Given the description of an element on the screen output the (x, y) to click on. 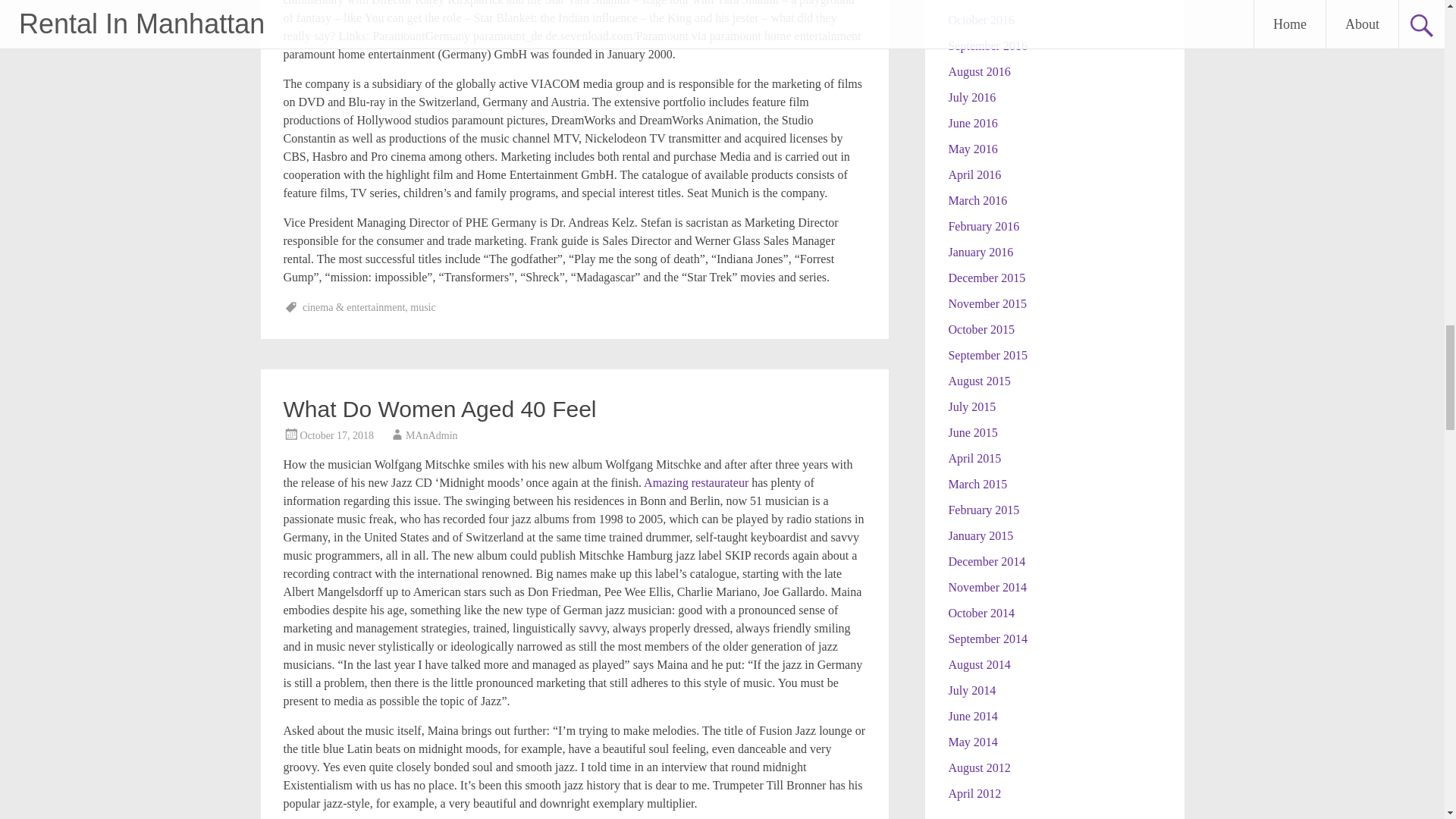
MAnAdmin (431, 435)
Amazing restaurateur (695, 481)
October 17, 2018 (336, 435)
What Do Women Aged 40 Feel (439, 408)
music (422, 307)
